Given the description of an element on the screen output the (x, y) to click on. 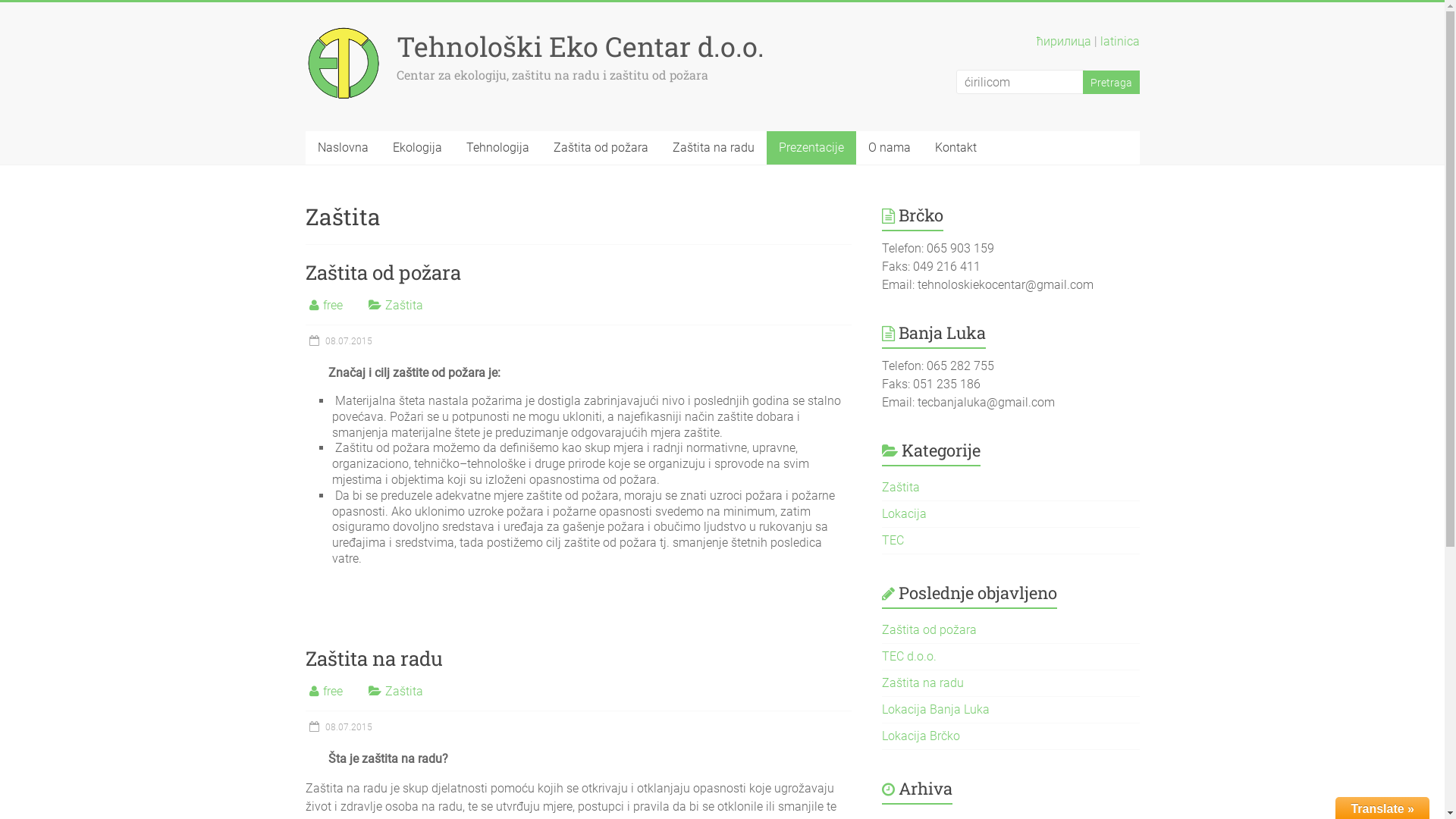
O nama Element type: text (888, 147)
free Element type: text (332, 691)
Naslovna Element type: text (341, 147)
Pretraga Element type: text (1110, 81)
Ekologija Element type: text (417, 147)
latinica Element type: text (1119, 41)
Lokacija Banja Luka Element type: text (935, 709)
TEC Element type: text (892, 540)
Tehnologija Element type: text (496, 147)
08.07.2015 Element type: text (337, 340)
Lokacija Element type: text (903, 513)
TEC d.o.o. Element type: text (908, 656)
Kontakt Element type: text (955, 147)
Prezentacije Element type: text (810, 147)
free Element type: text (332, 305)
08.07.2015 Element type: text (337, 726)
